Given the description of an element on the screen output the (x, y) to click on. 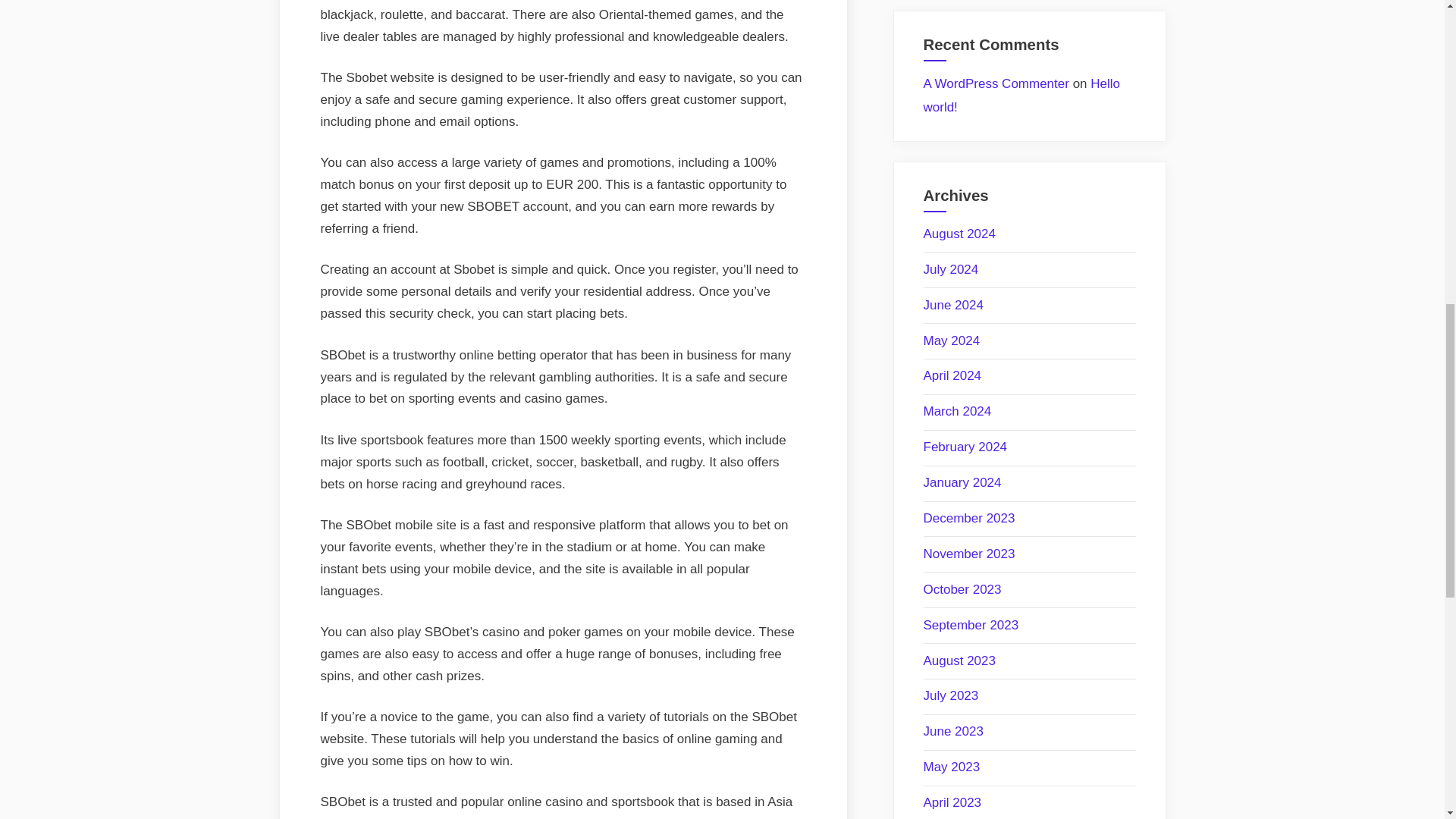
August 2024 (959, 233)
June 2024 (953, 305)
Hello world! (1022, 95)
March 2024 (957, 411)
July 2024 (950, 269)
February 2024 (965, 446)
A WordPress Commenter (995, 83)
September 2023 (971, 625)
December 2023 (968, 518)
October 2023 (962, 589)
May 2024 (951, 340)
April 2024 (952, 375)
January 2024 (962, 482)
November 2023 (968, 554)
